Given the description of an element on the screen output the (x, y) to click on. 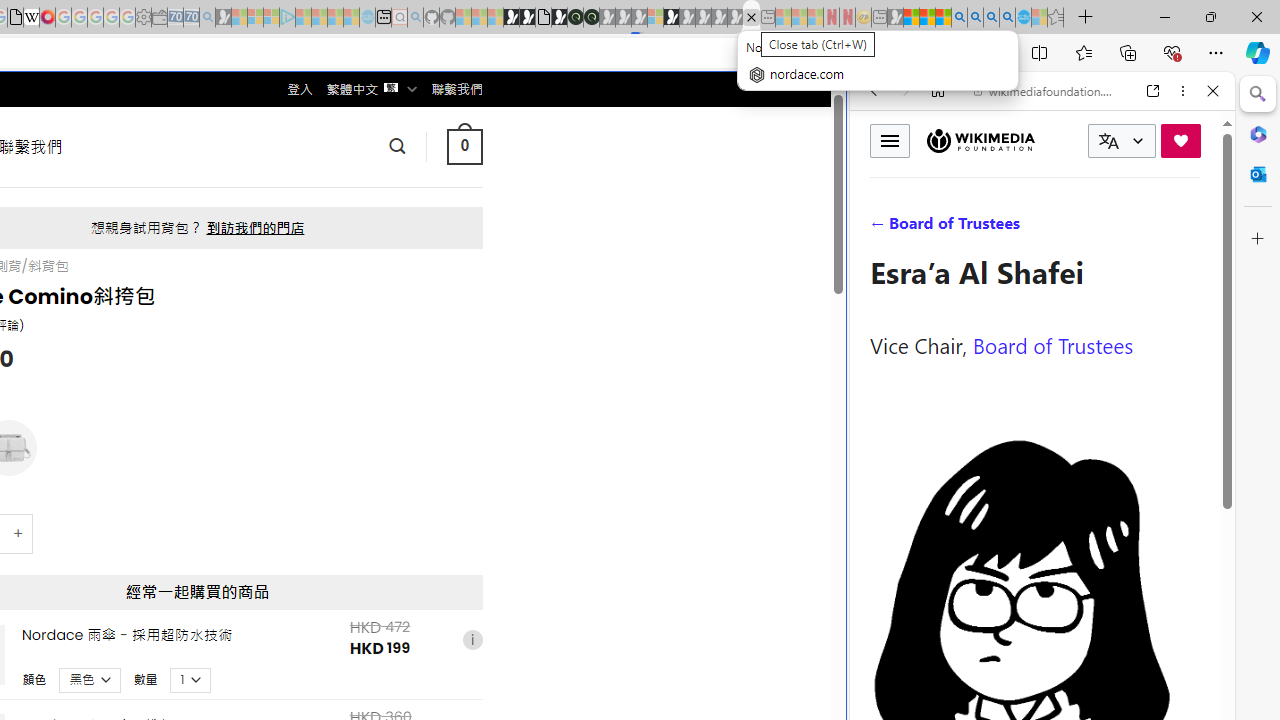
More options (1182, 91)
Play Free Online Games | Games from Microsoft Start (511, 17)
Split screen (1039, 52)
+ (19, 532)
Close Customize pane (1258, 239)
Microsoft Start - Sleeping (335, 17)
This site has coupons! Shopping in Microsoft Edge, 4 (906, 53)
Search Filter, WEB (882, 228)
Play Cave FRVR in your browser | Games from Microsoft Start (343, 426)
IMAGES (939, 228)
